Given the description of an element on the screen output the (x, y) to click on. 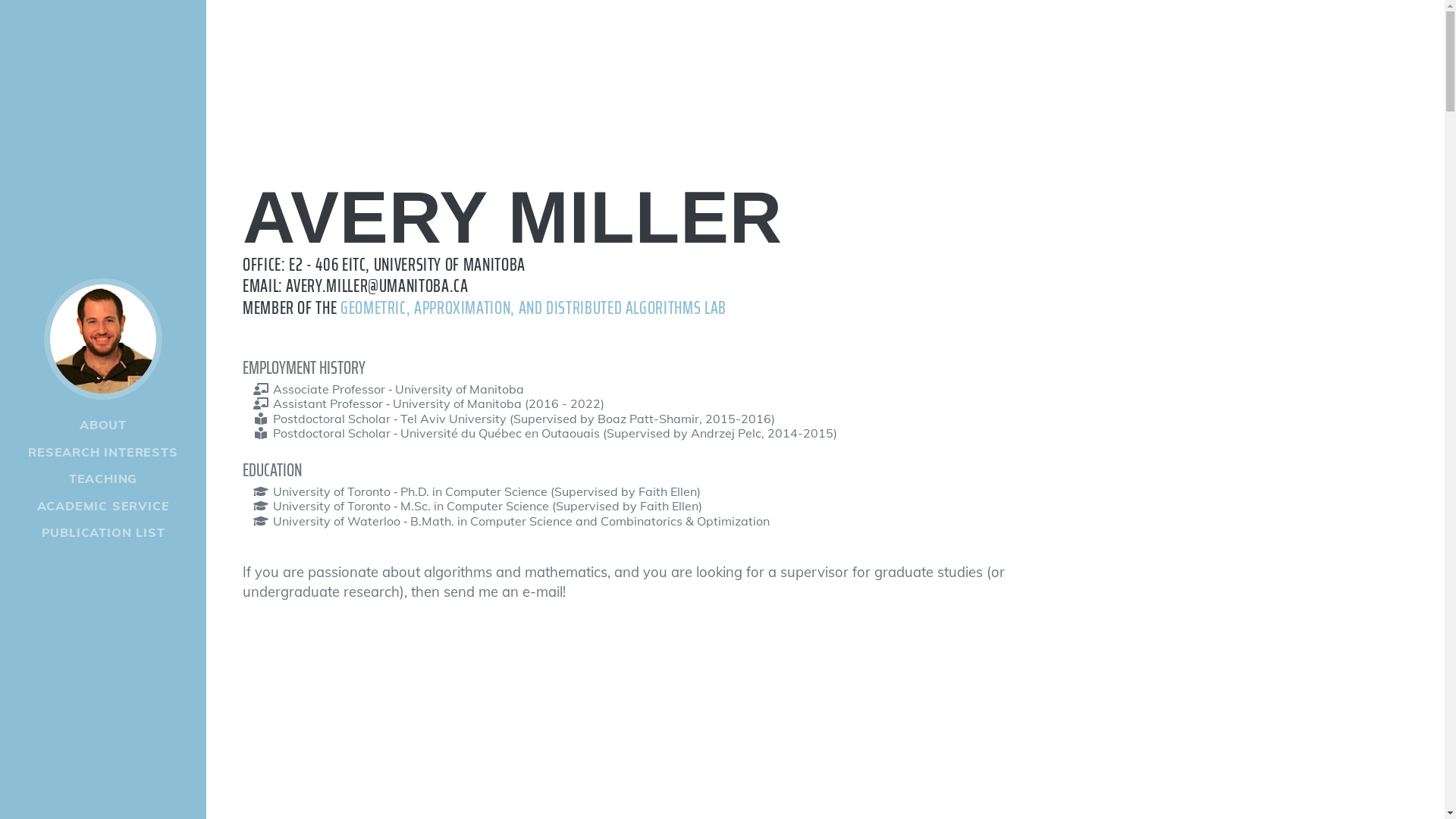
ACADEMIC SERVICE Element type: text (103, 506)
ABOUT Element type: text (103, 425)
TEACHING Element type: text (103, 478)
GEOMETRIC, APPROXIMATION, AND DISTRIBUTED ALGORITHMS LAB Element type: text (533, 307)
PUBLICATION LIST Element type: text (103, 532)
RESEARCH INTERESTS Element type: text (103, 452)
